Given the description of an element on the screen output the (x, y) to click on. 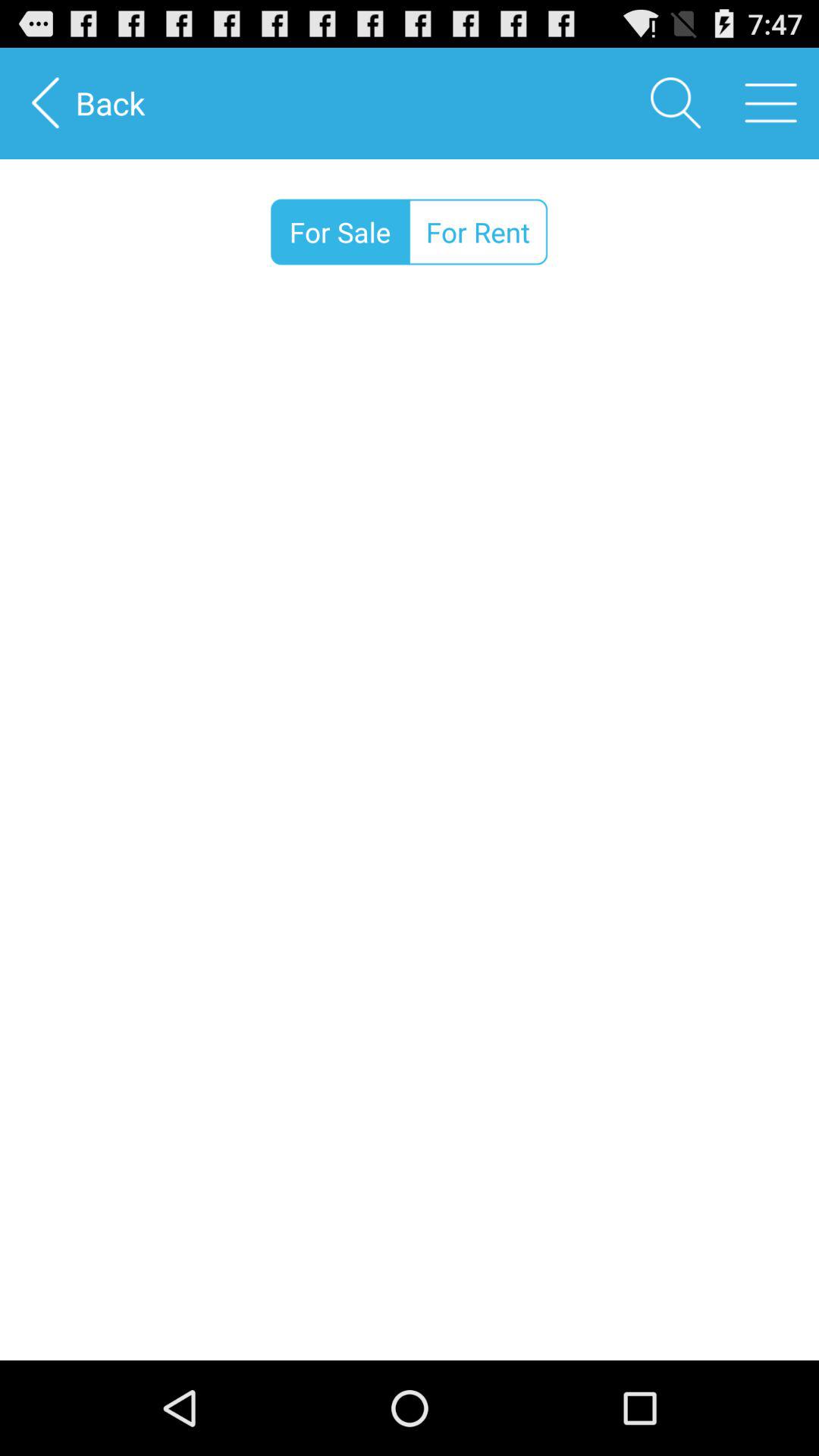
choose the item at the center (409, 832)
